Given the description of an element on the screen output the (x, y) to click on. 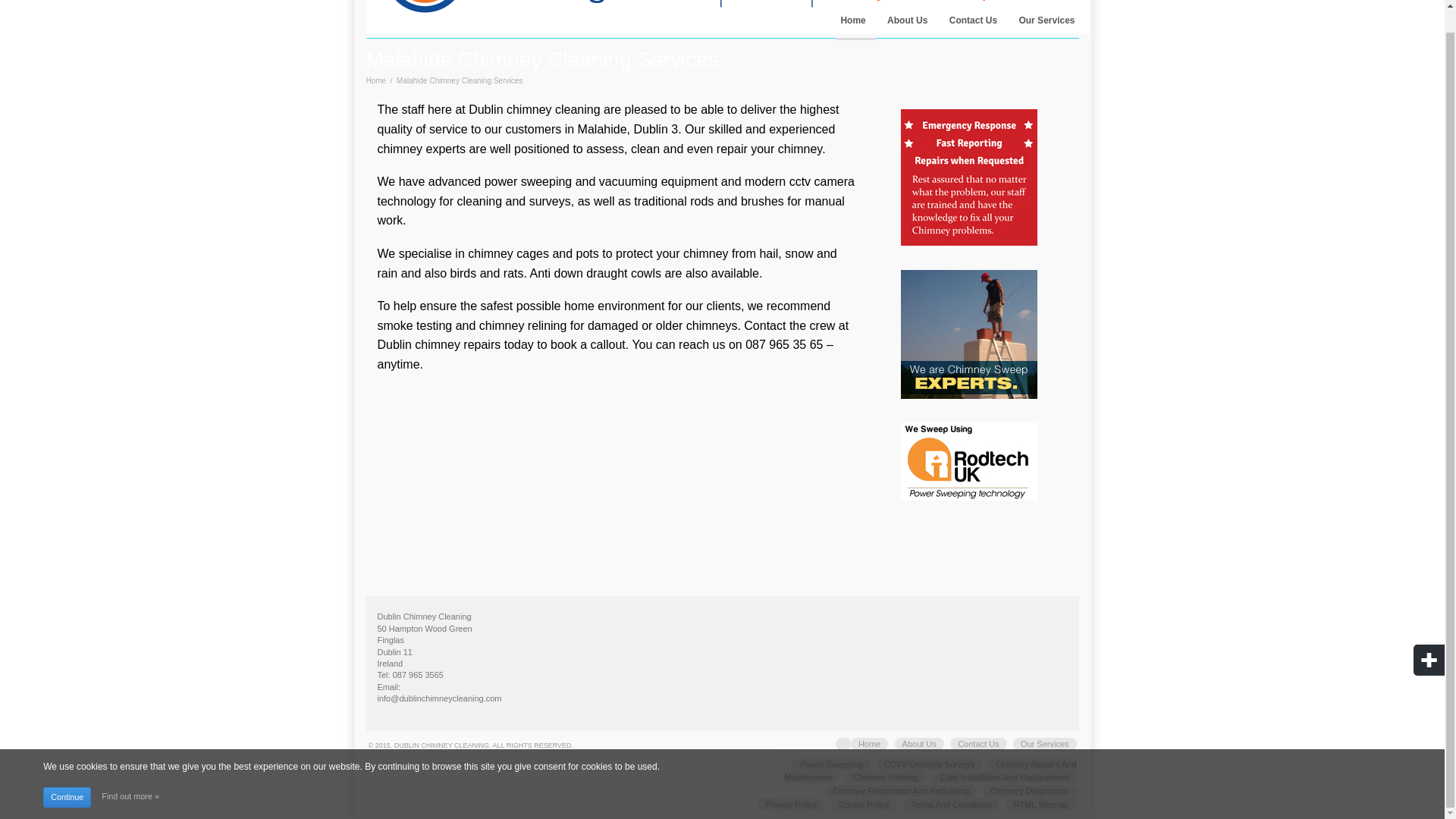
Contact Us (972, 24)
Chimney Repairs And Maintenance (929, 770)
Power Sweeping (831, 764)
CCTV Chimney Surveys (928, 764)
Contact Us (978, 743)
Home (852, 24)
About Us (907, 24)
Our Services (1046, 24)
Cowl Installation And Replacement (1005, 776)
About Us (919, 743)
Home (375, 80)
We have advanced power sweeping and vacuuming equipment (547, 181)
Chimney Restoration And Rebuilding (900, 790)
Home (869, 743)
Our skilled and experienced chimney experts (606, 138)
